Given the description of an element on the screen output the (x, y) to click on. 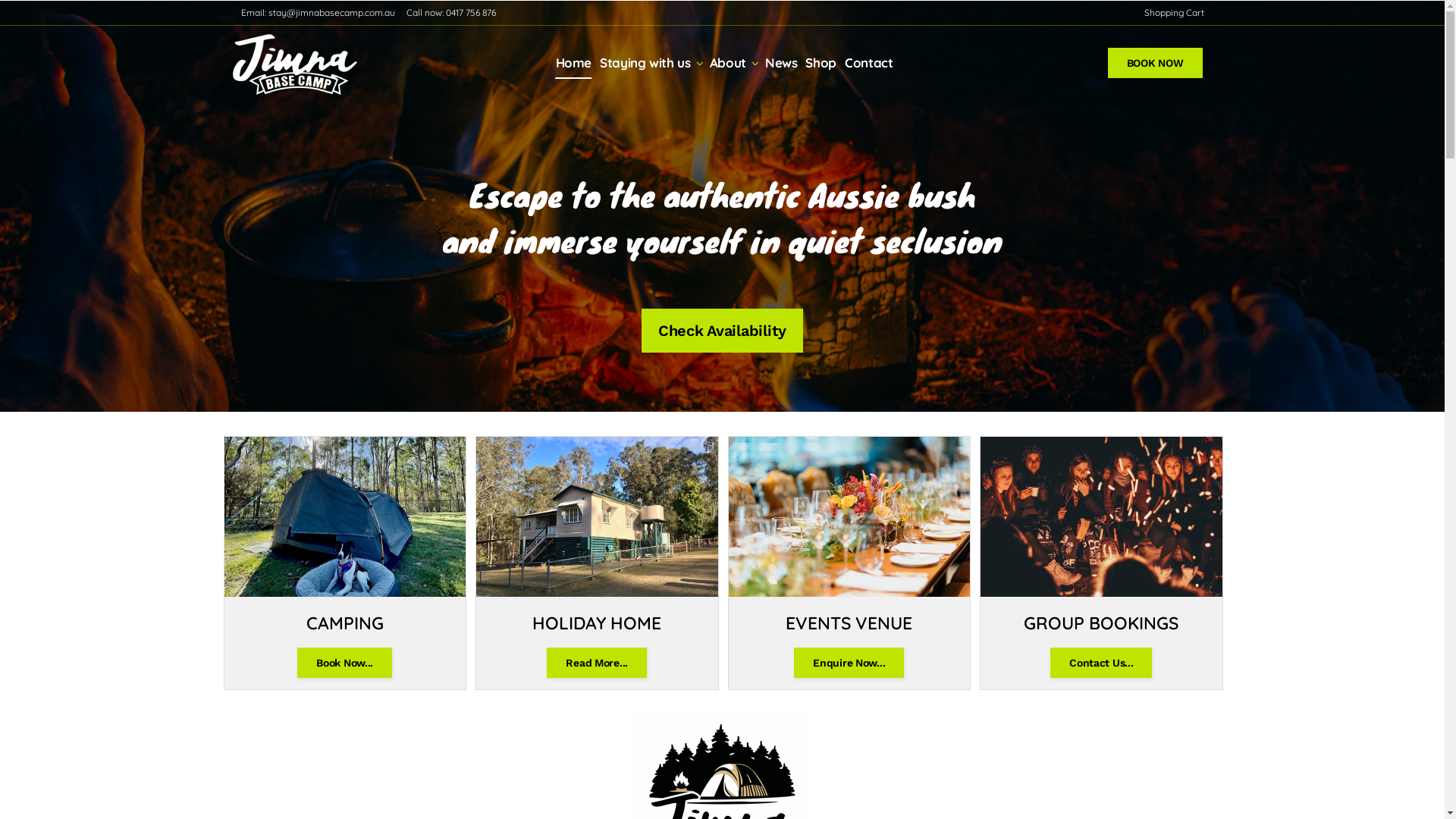
Book Now... Element type: text (344, 662)
Enquire Now... Element type: text (848, 662)
Read More... Element type: text (596, 662)
Staying with us Element type: text (643, 62)
Check Availability Element type: text (722, 329)
Contact Element type: text (866, 62)
holiday-house-jimna-base-camp Element type: hover (597, 516)
Email: stay@jimnabasecamp.com.au Element type: text (311, 12)
Call now: 0417 756 876 Element type: text (444, 12)
events-venue-jimna Element type: hover (848, 516)
Shop Element type: text (818, 62)
About Element type: text (725, 62)
News Element type: text (779, 62)
group-bookings-at-jimna-base-camp Element type: hover (1101, 516)
camping Element type: hover (345, 516)
BOOK NOW Element type: text (1154, 62)
Shopping Cart Element type: text (1168, 12)
Home Element type: text (571, 62)
Contact Us... Element type: text (1100, 662)
